Given the description of an element on the screen output the (x, y) to click on. 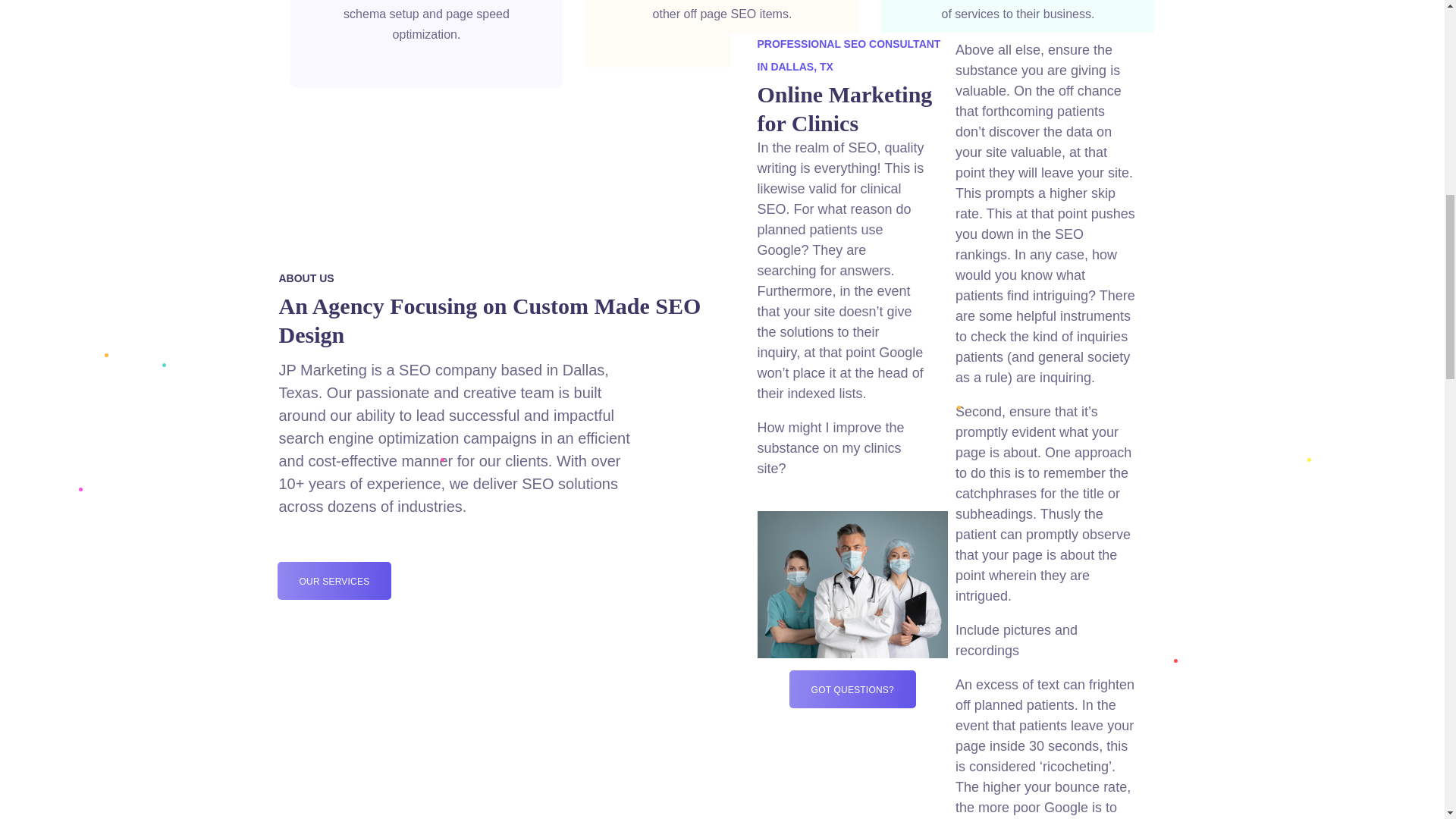
SEO agency for Doctor in Dallas, TX (852, 584)
